Given the description of an element on the screen output the (x, y) to click on. 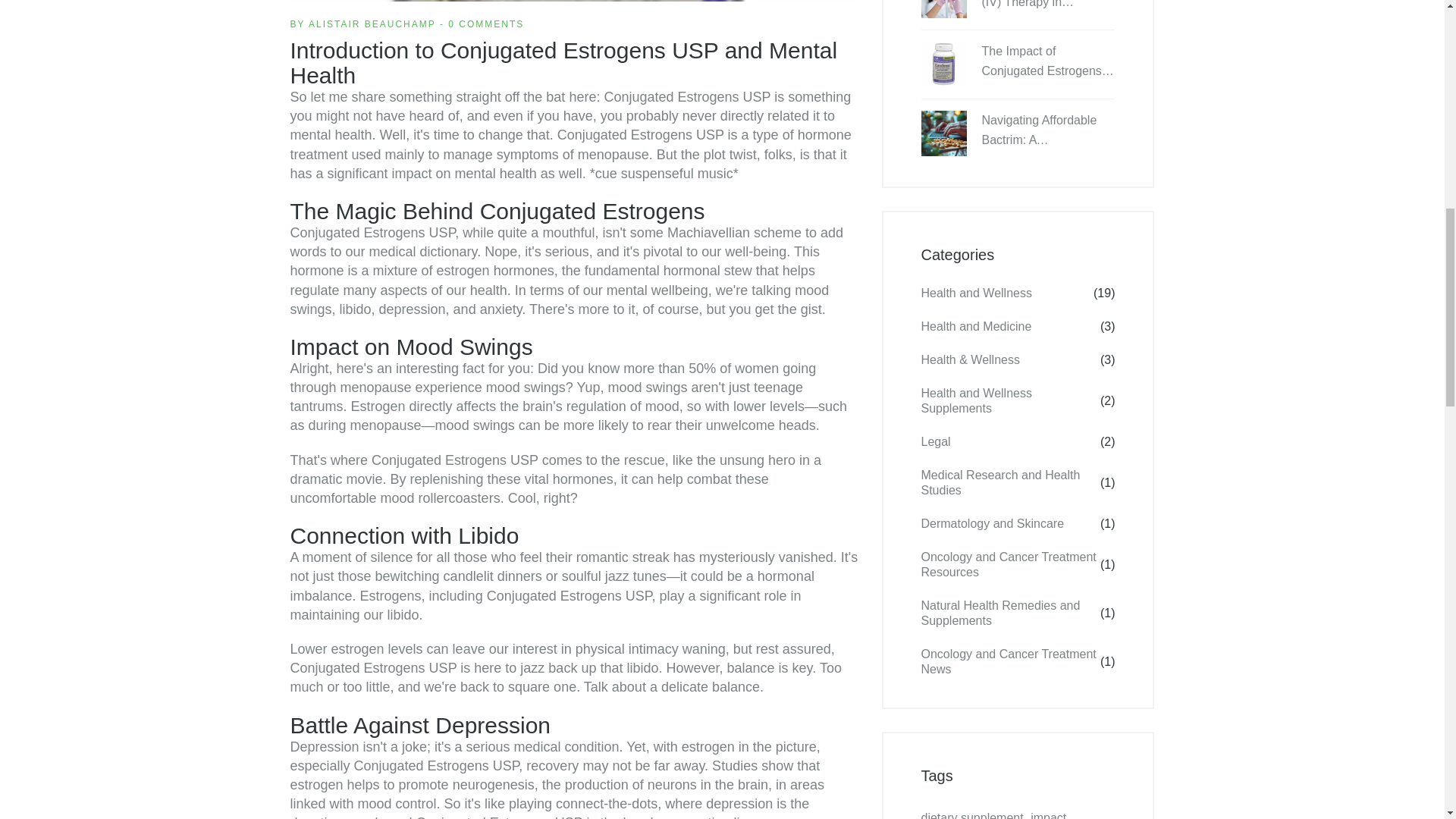
dietary supplement (971, 815)
The Impact of Conjugated Estrogens USP on Mental Health (1048, 61)
ALISTAIR BEAUCHAMP (371, 23)
impact (1047, 815)
